Given the description of an element on the screen output the (x, y) to click on. 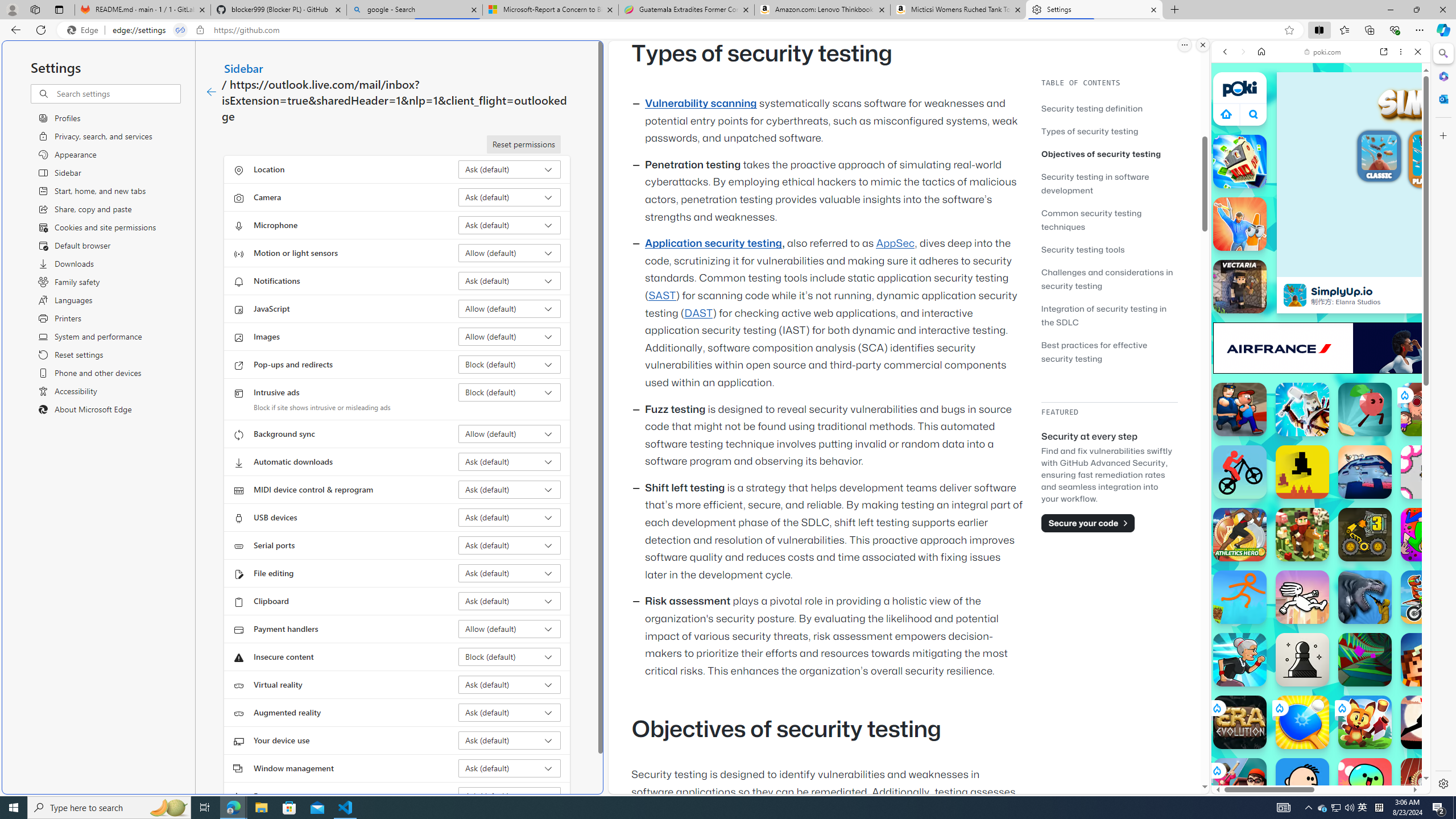
Big Tower Tiny Square Big Tower Tiny Square (1364, 471)
Class: B_5ykBA46kDOxiz_R9wm (1253, 113)
Io Games (1320, 350)
Simply Prop Hunt (1239, 223)
Fox Island Builder (1364, 722)
Location Ask (default) (509, 169)
Stack City Stack City (1239, 161)
